Given the description of an element on the screen output the (x, y) to click on. 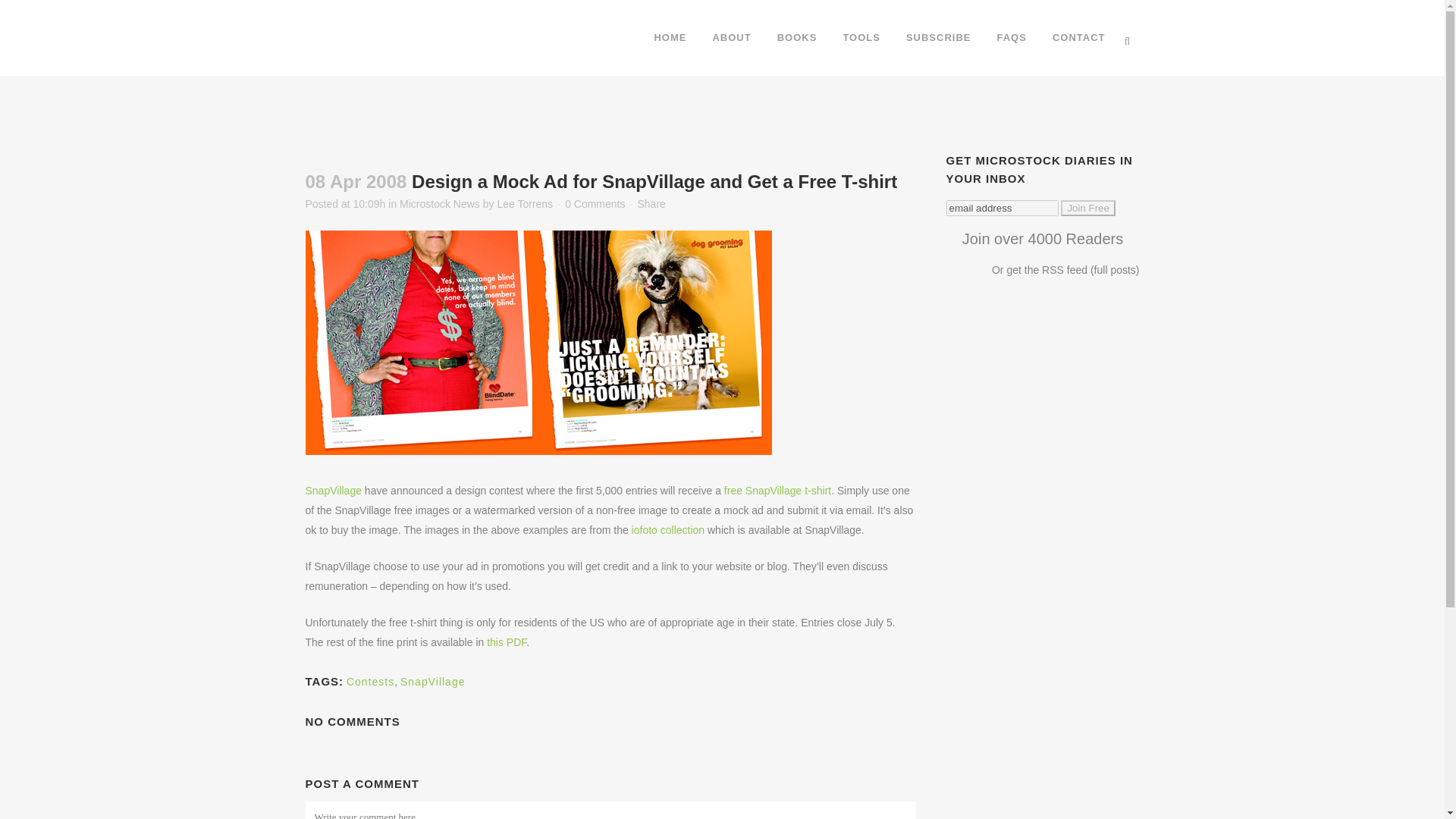
Lee Torrens (524, 203)
0 Comments (594, 203)
SnapVillage (432, 681)
SnapVillage (332, 490)
Microstock News (439, 203)
Share (651, 203)
Join Free (1088, 207)
email address (1002, 207)
SnapVillage Design Contest (537, 342)
Contests (370, 681)
